Given the description of an element on the screen output the (x, y) to click on. 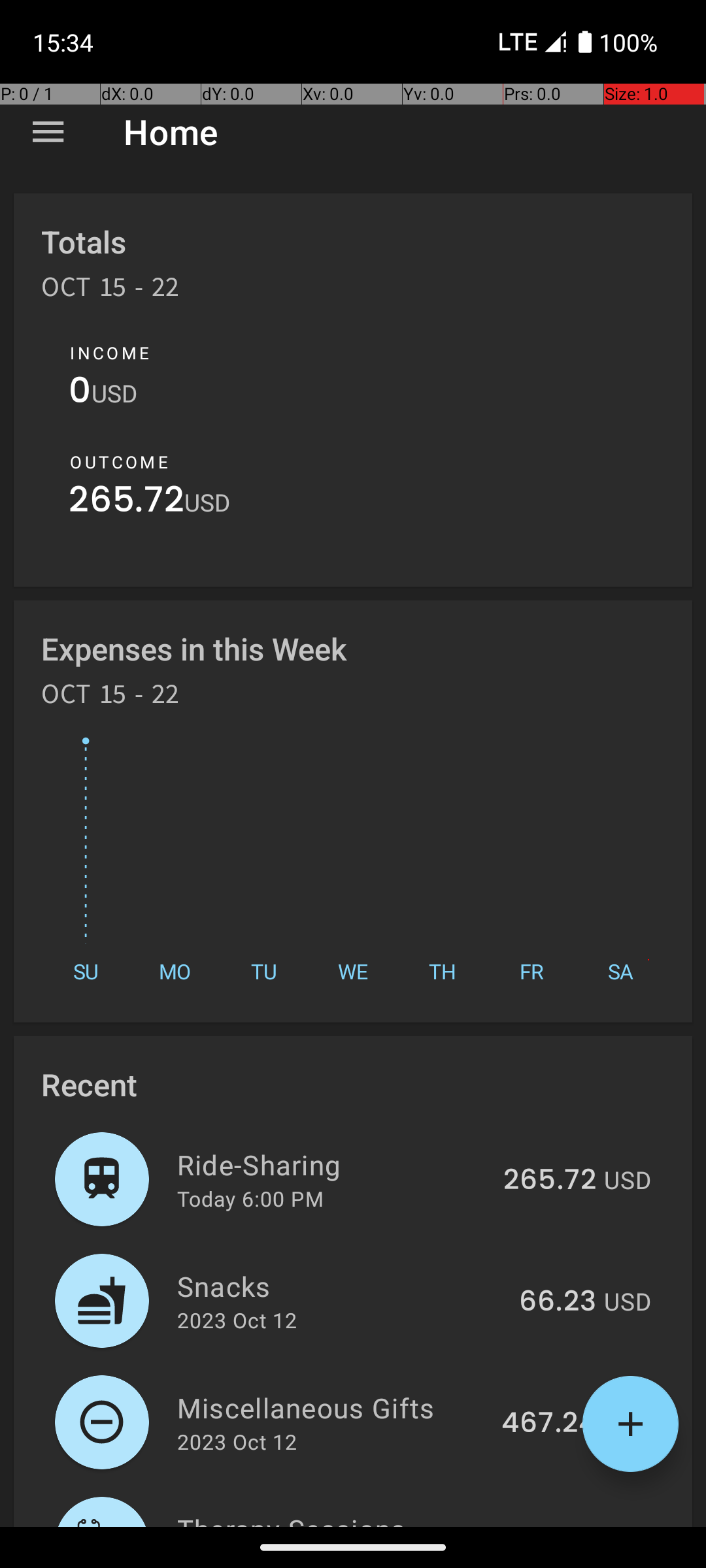
265.72 Element type: android.widget.TextView (126, 502)
Today 6:00 PM Element type: android.widget.TextView (250, 1198)
Snacks Element type: android.widget.TextView (340, 1285)
66.23 Element type: android.widget.TextView (557, 1301)
Miscellaneous Gifts Element type: android.widget.TextView (331, 1407)
467.24 Element type: android.widget.TextView (548, 1423)
Therapy Sessions Element type: android.widget.TextView (339, 1518)
85.76 Element type: android.widget.TextView (556, 1524)
